Given the description of an element on the screen output the (x, y) to click on. 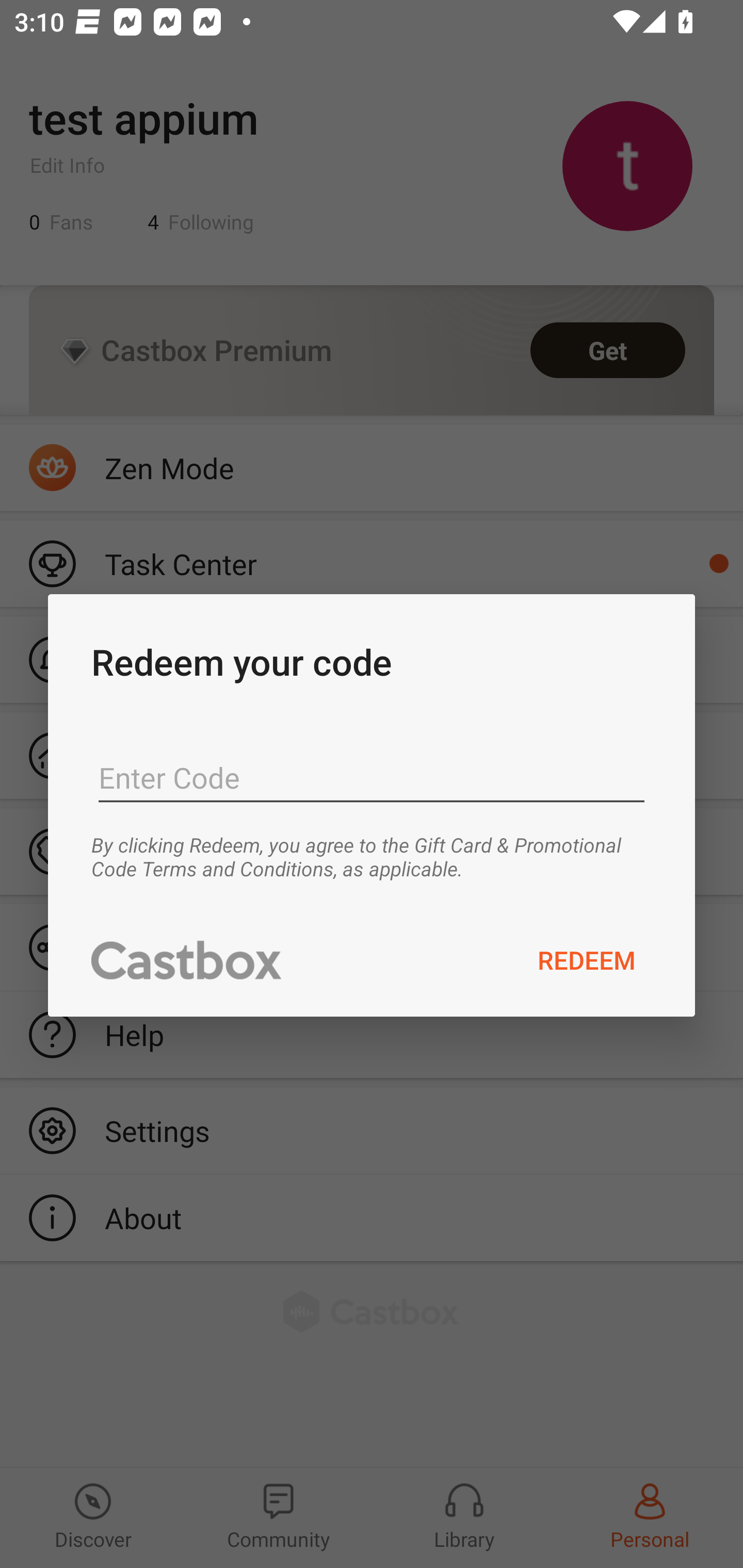
Enter Code (371, 778)
REDEEM (586, 959)
